Given the description of an element on the screen output the (x, y) to click on. 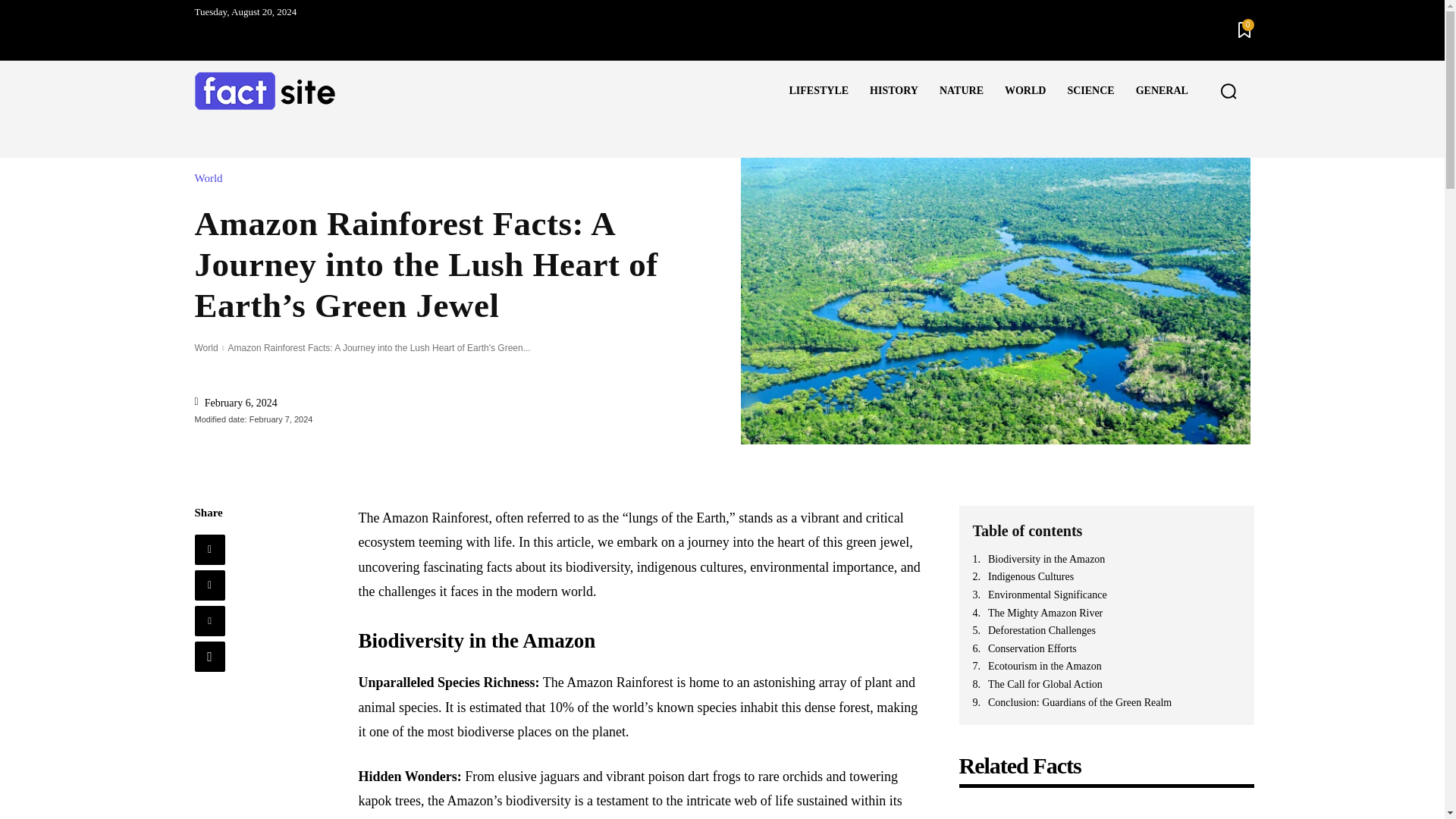
HISTORY (893, 90)
WORLD (1025, 90)
Pinterest (208, 621)
WhatsApp (208, 656)
NATURE (961, 90)
Twitter (208, 585)
SCIENCE (1090, 90)
GENERAL (1161, 90)
Facebook (208, 549)
View all posts in World (204, 347)
